Given the description of an element on the screen output the (x, y) to click on. 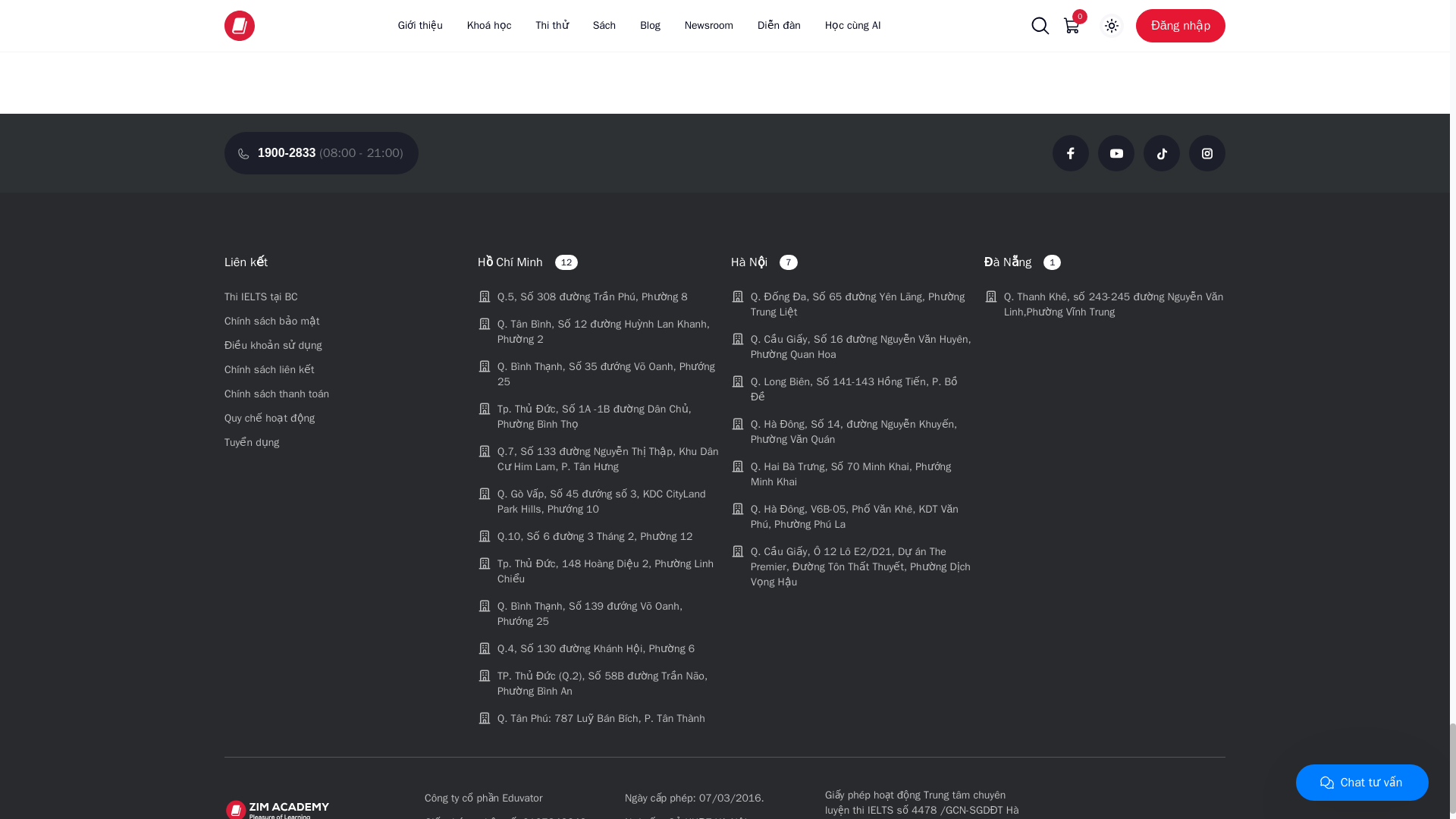
DMCA.com Protection Status (1109, 806)
